Given the description of an element on the screen output the (x, y) to click on. 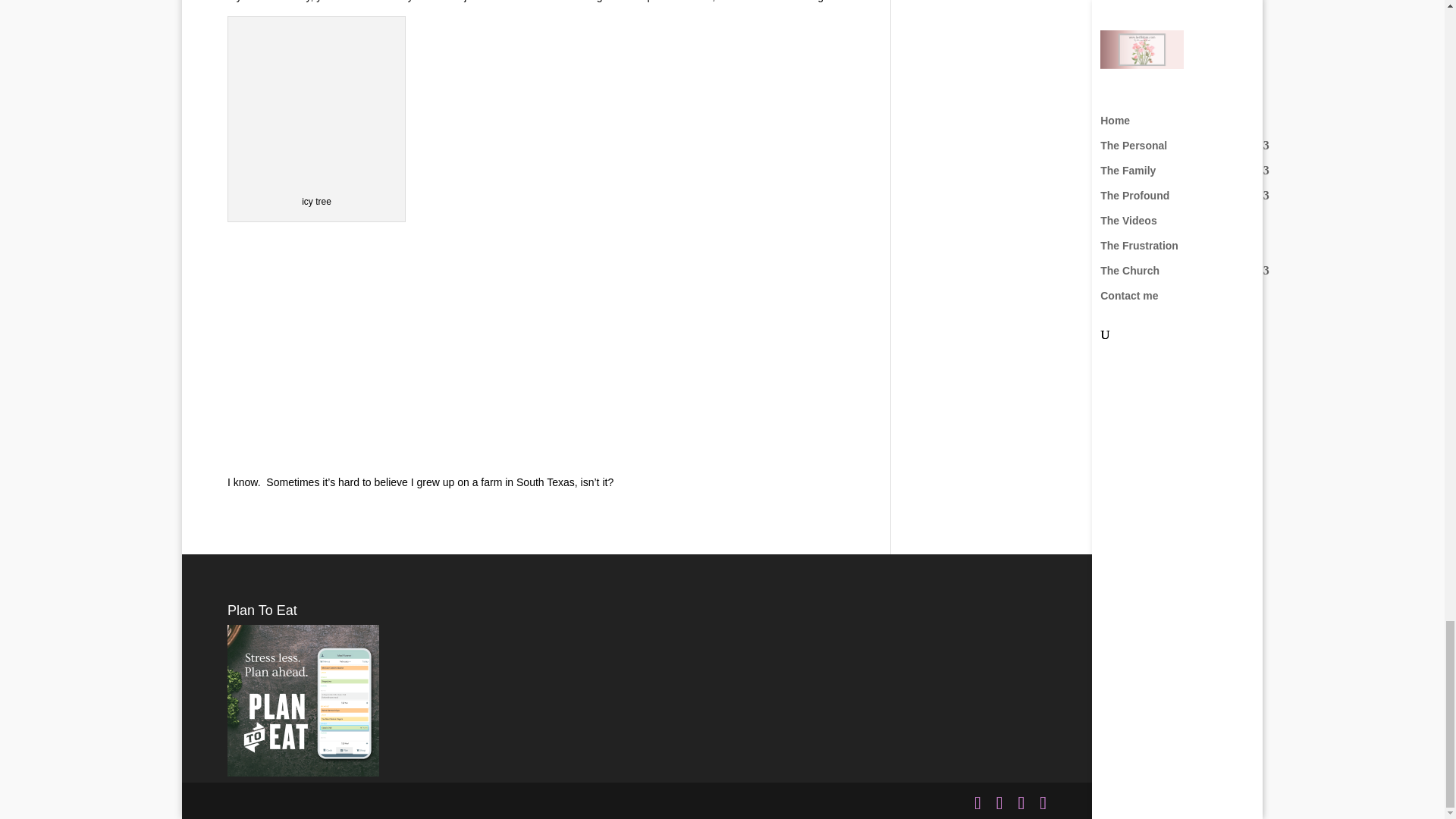
icy fence (340, 343)
Simple Meal Planning - Plan to Eat (302, 772)
icy tree (316, 104)
